Given the description of an element on the screen output the (x, y) to click on. 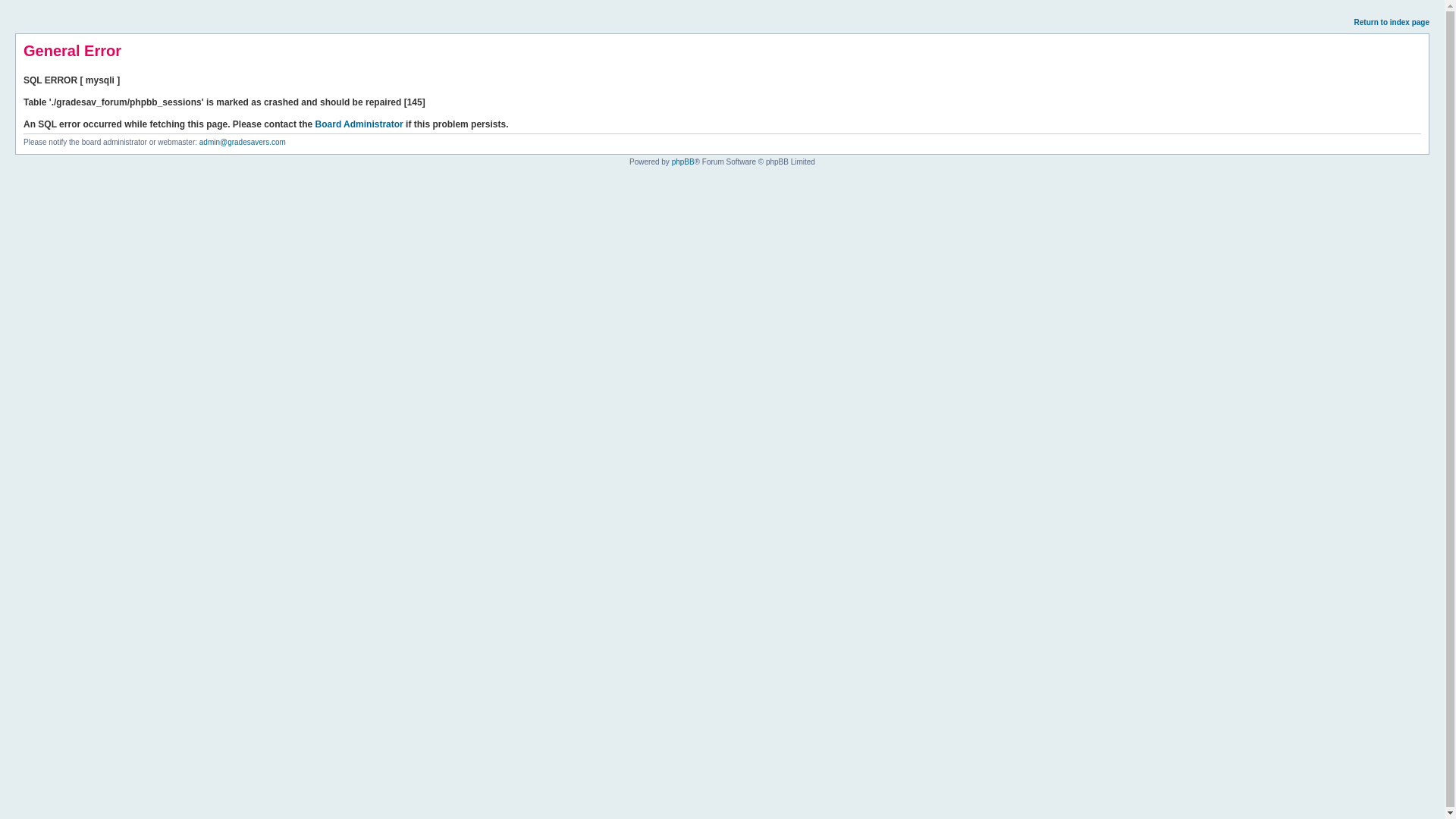
Return to index page (1391, 22)
phpBB (682, 162)
Board Administrator (359, 123)
